Given the description of an element on the screen output the (x, y) to click on. 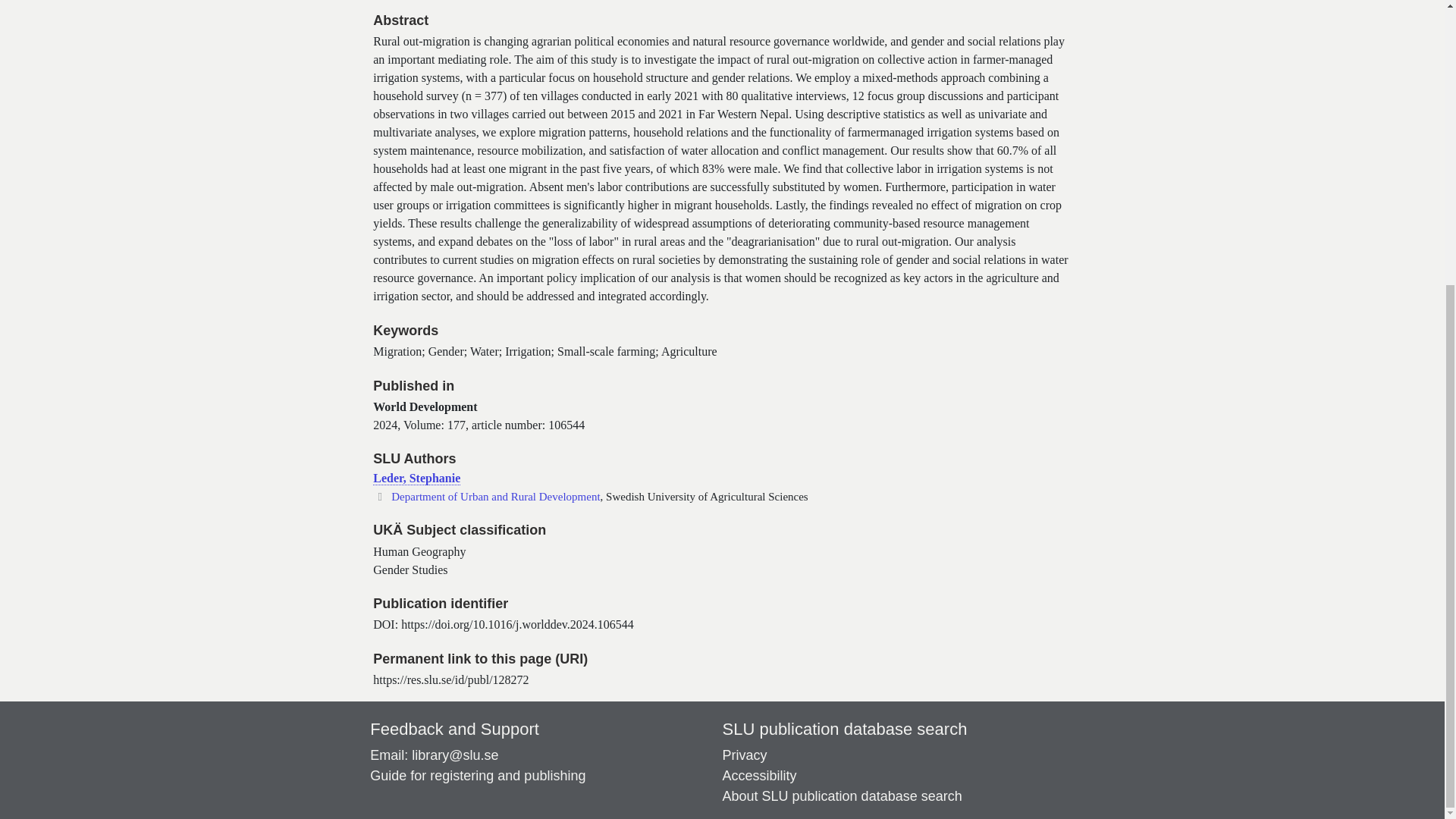
Department of Urban and Rural Development (495, 496)
Leder, Stephanie (416, 478)
Accessibility (759, 775)
About SLU publication database search (841, 795)
Privacy (744, 754)
Guide for registering and publishing (477, 775)
